Given the description of an element on the screen output the (x, y) to click on. 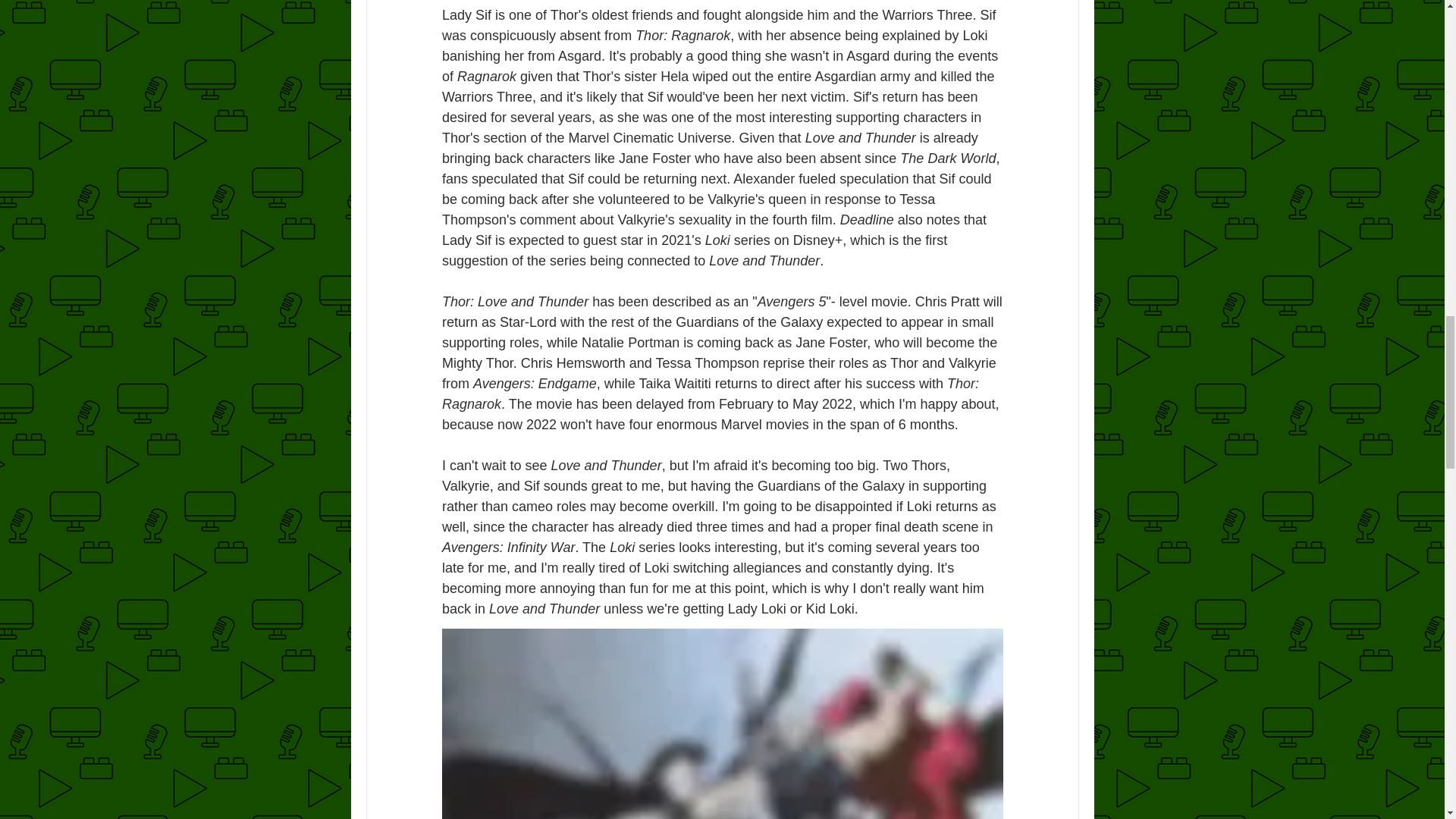
Gorr with his Necrosword (722, 723)
